Given the description of an element on the screen output the (x, y) to click on. 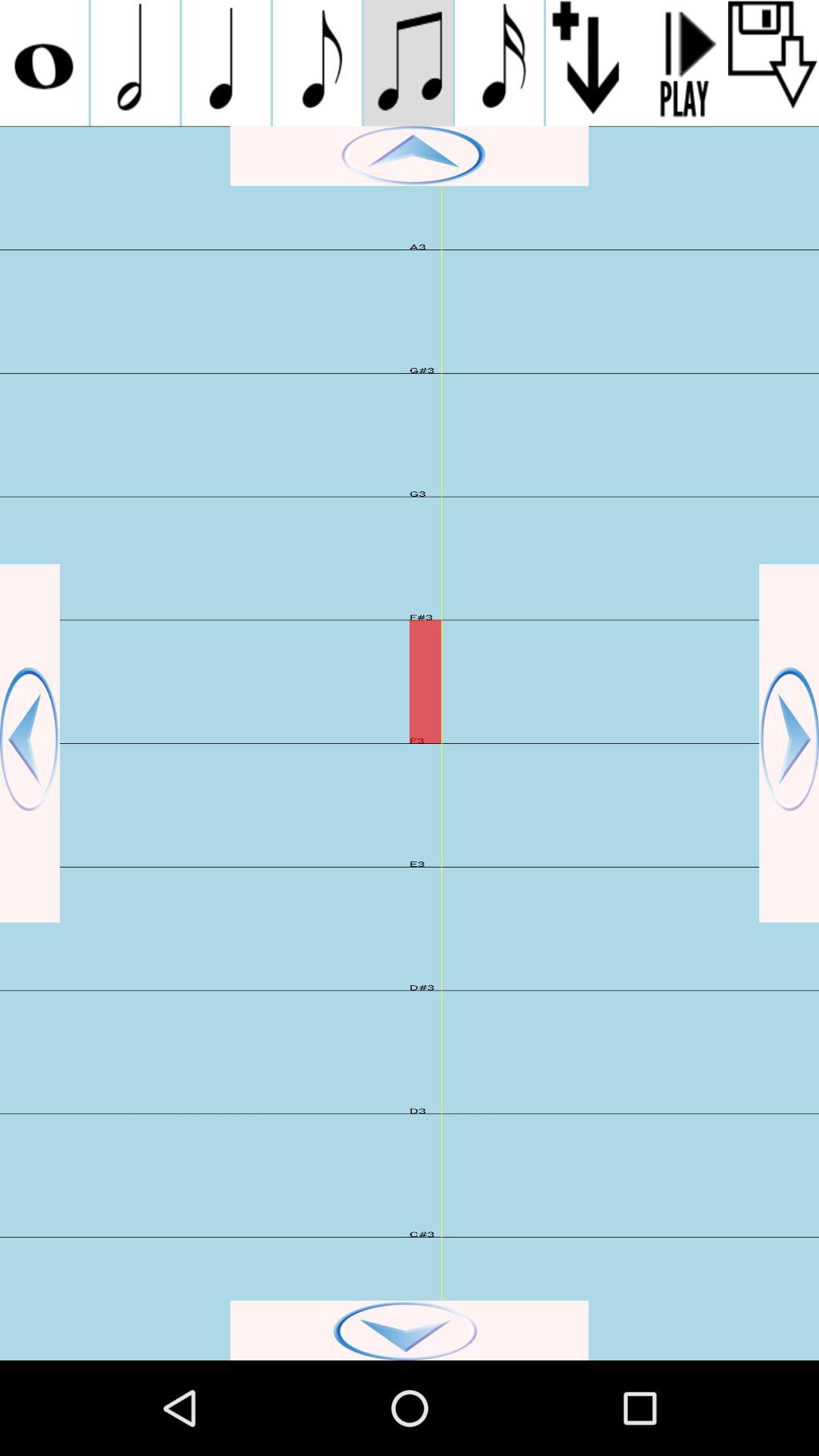
selecting a musical note (317, 63)
